Given the description of an element on the screen output the (x, y) to click on. 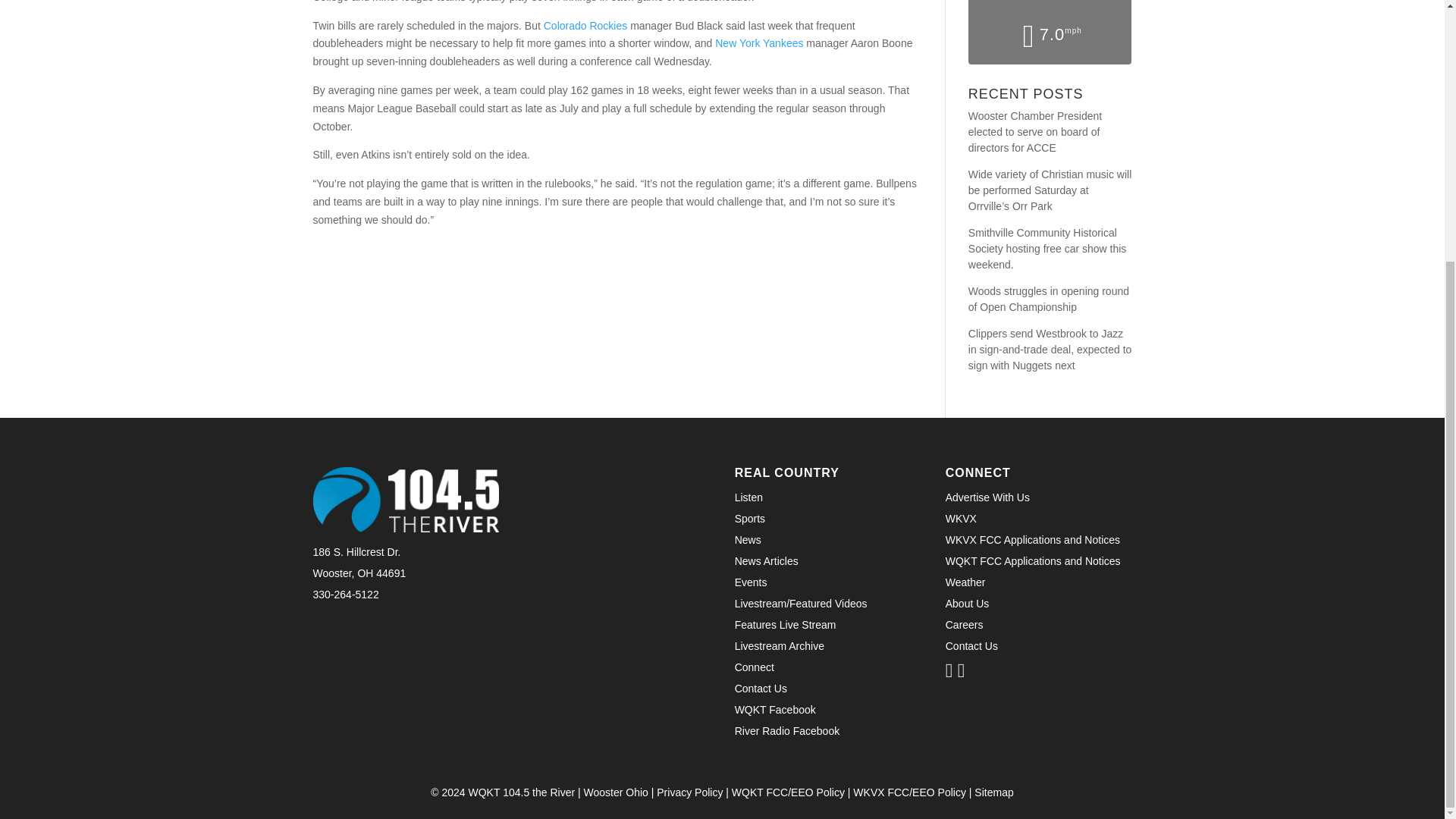
Woods struggles in opening round of Open Championship (1050, 299)
Colorado Rockies (585, 25)
New York Yankees (758, 42)
Listen (748, 497)
Sports (750, 518)
